Given the description of an element on the screen output the (x, y) to click on. 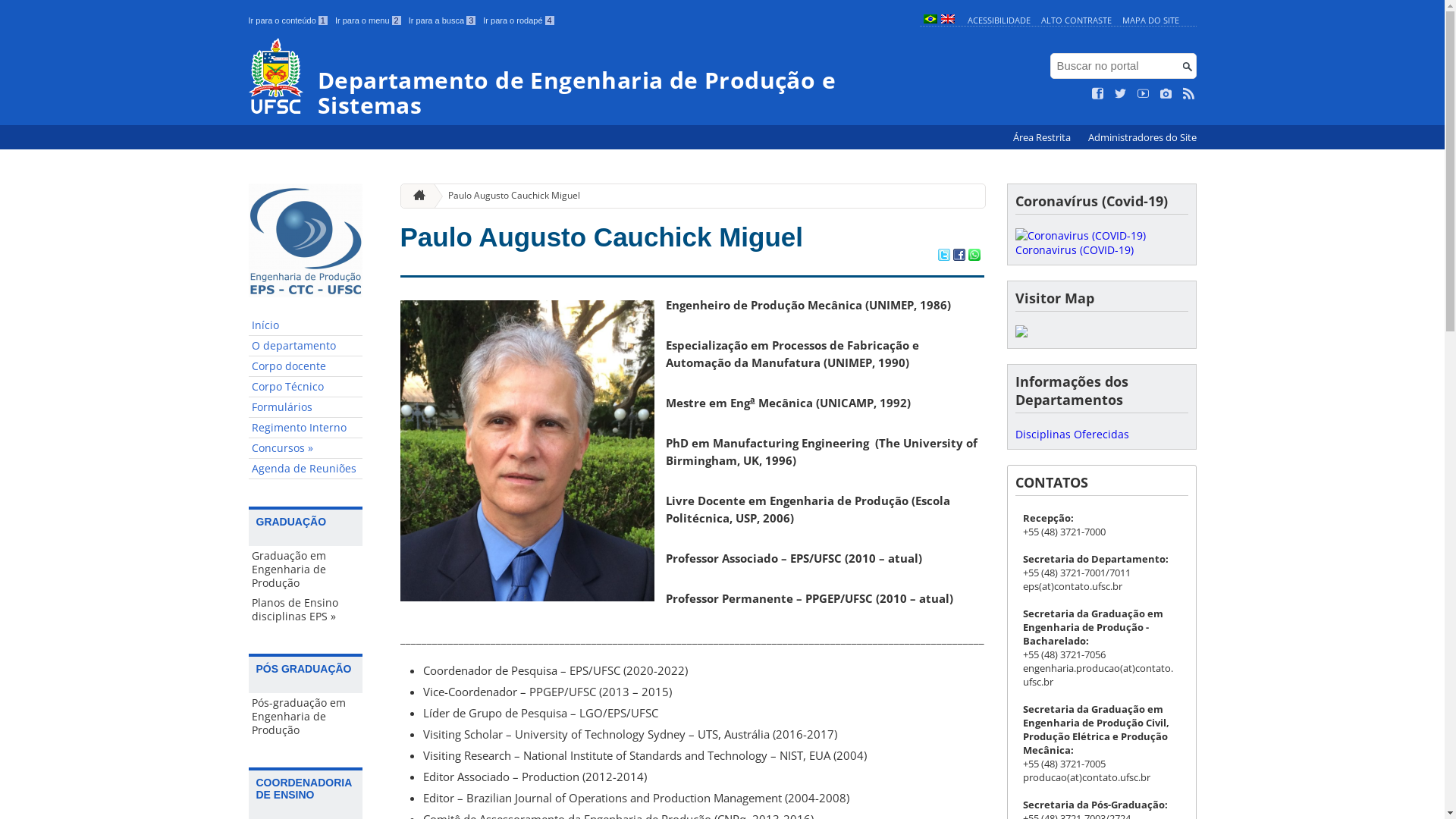
Regimento Interno Element type: text (305, 427)
Compartilhar no Twitter Element type: hover (943, 255)
Compartilhar no Facebook Element type: hover (958, 255)
O departamento Element type: text (305, 345)
Paulo Augusto Cauchick Miguel Element type: text (507, 195)
Visit tracker Element type: hover (1020, 333)
Administradores do Site Element type: text (1141, 137)
ACESSIBILIDADE Element type: text (998, 19)
Disciplinas Oferecidas Element type: text (1071, 433)
Curta no Facebook Element type: hover (1098, 93)
Ir para a busca 3 Element type: text (442, 20)
Ir para o menu 2 Element type: text (368, 20)
Paulo Augusto Cauchick Miguel Element type: text (601, 236)
Compartilhar no WhatsApp Element type: hover (973, 255)
English (en) Element type: hover (946, 19)
ALTO CONTRASTE Element type: text (1076, 19)
MAPA DO SITE Element type: text (1150, 19)
Veja no Instagram Element type: hover (1166, 93)
Corpo docente Element type: text (305, 366)
Siga no Twitter Element type: hover (1120, 93)
Coronavirus (COVID-19) Element type: text (1079, 242)
